Given the description of an element on the screen output the (x, y) to click on. 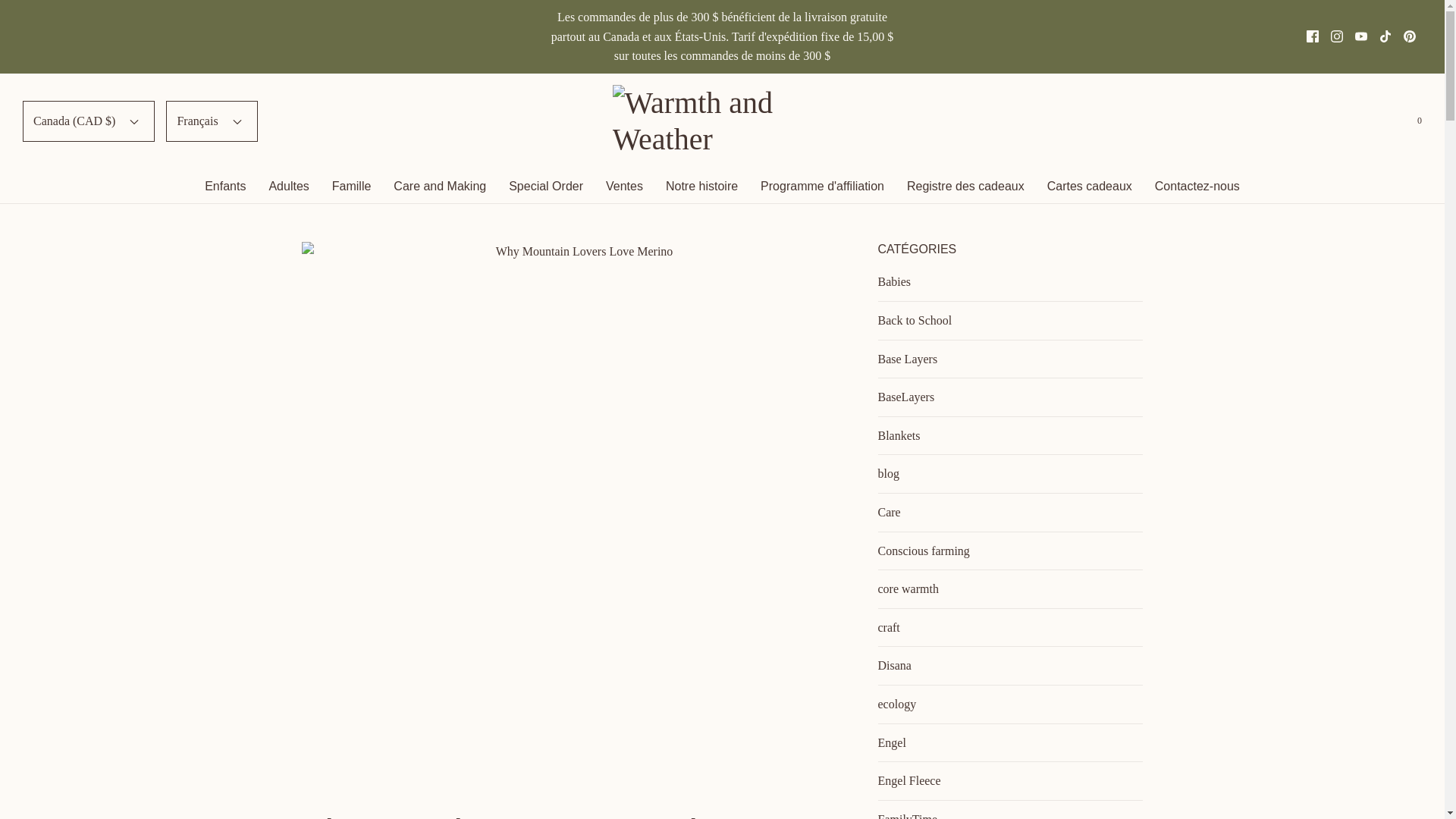
TikTok icon (1384, 36)
Show articles tagged core warmth (1009, 588)
Show articles tagged blog (1009, 474)
Show articles tagged craft (1009, 628)
YouTube icon (1361, 36)
Instagram icon (1336, 36)
Instagram icon (1336, 36)
TikTok icon (1385, 36)
Show articles tagged BaseLayers (1009, 397)
